Given the description of an element on the screen output the (x, y) to click on. 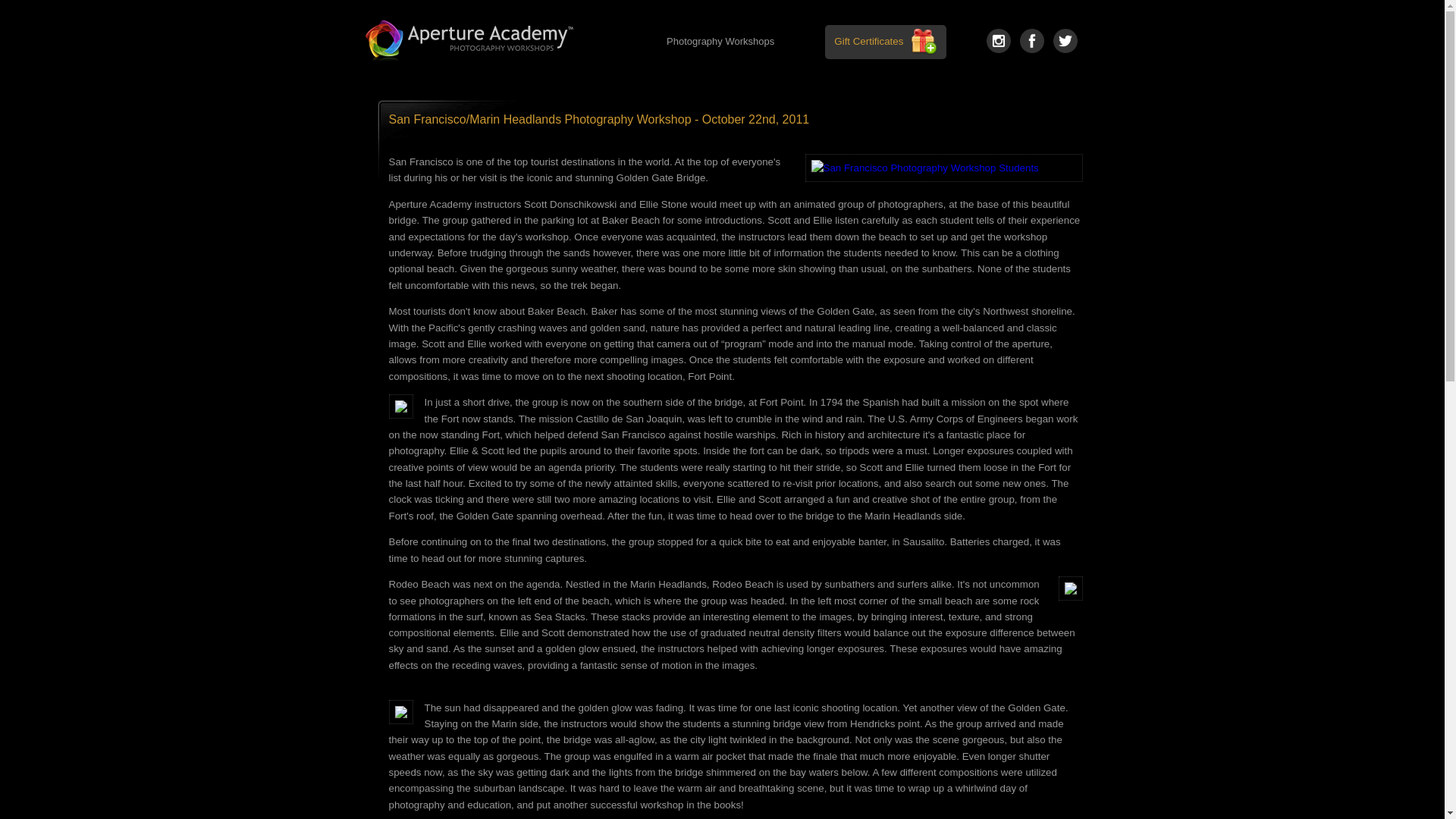
Gift Certificates (868, 41)
Photography Workshops (720, 41)
